Given the description of an element on the screen output the (x, y) to click on. 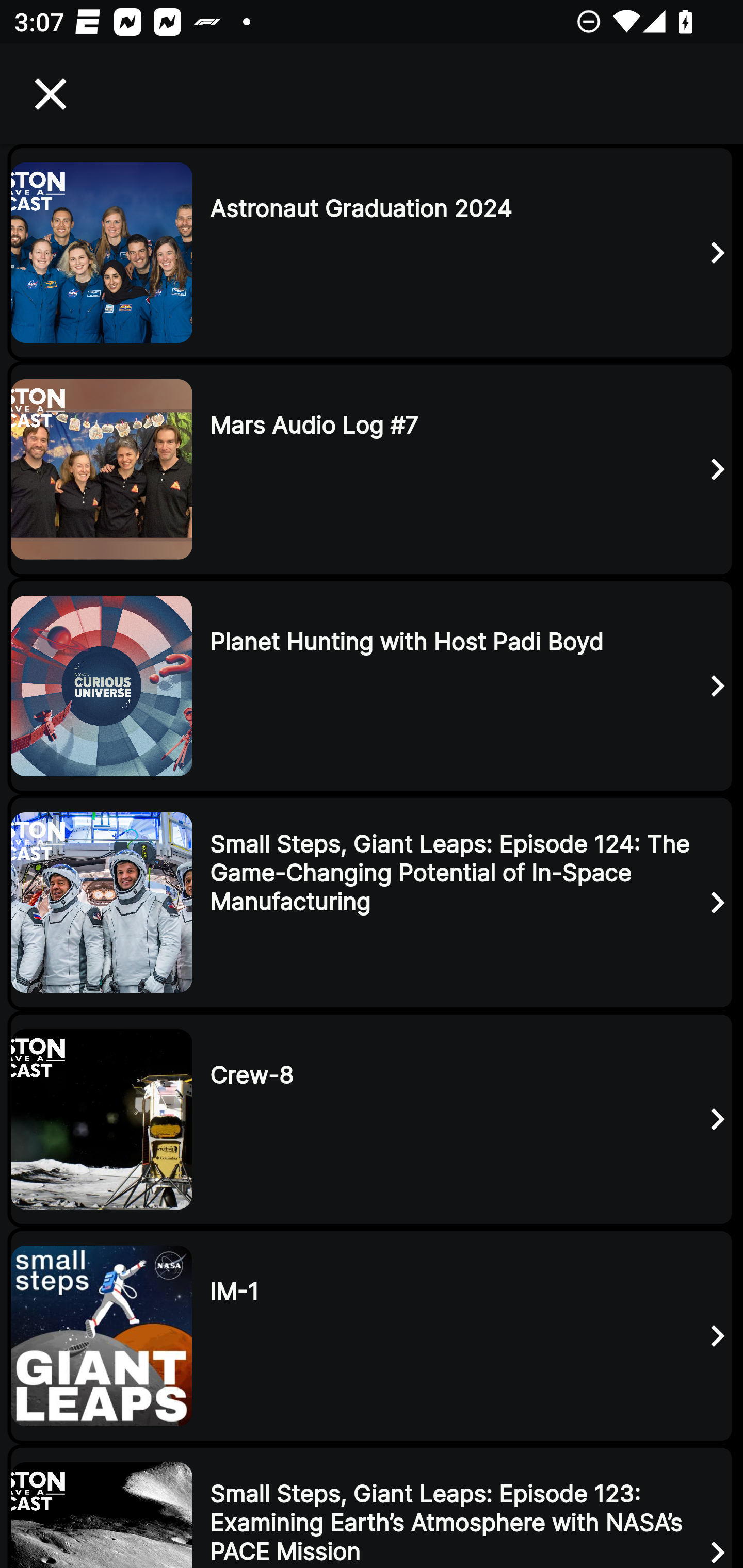
Astronaut Graduation 2024 (371, 252)
Mars Audio Log #7 (371, 468)
Planet Hunting with Host Padi Boyd (371, 685)
Crew-8 (371, 1119)
IM-1 (371, 1335)
